Given the description of an element on the screen output the (x, y) to click on. 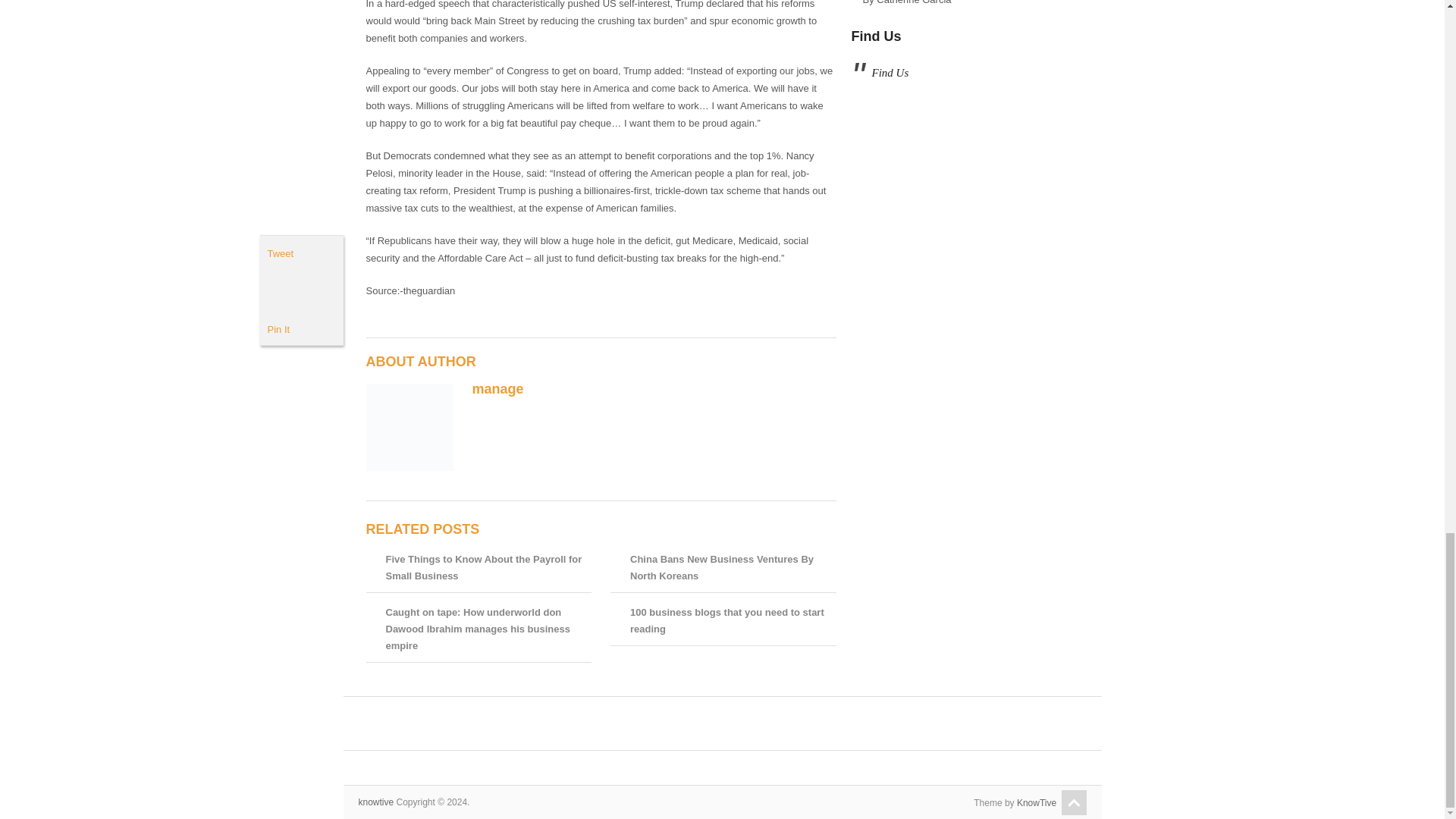
100 business blogs that you need to start reading (727, 620)
China Bans New Business Ventures By North Koreans (721, 567)
China Bans New Business Ventures By North Koreans (721, 567)
Five Things to Know About the Payroll for Small Business (482, 567)
Know Tive (375, 801)
Five Things to Know About the Payroll for Small Business (482, 567)
100 business blogs that you need to start reading (727, 620)
